Given the description of an element on the screen output the (x, y) to click on. 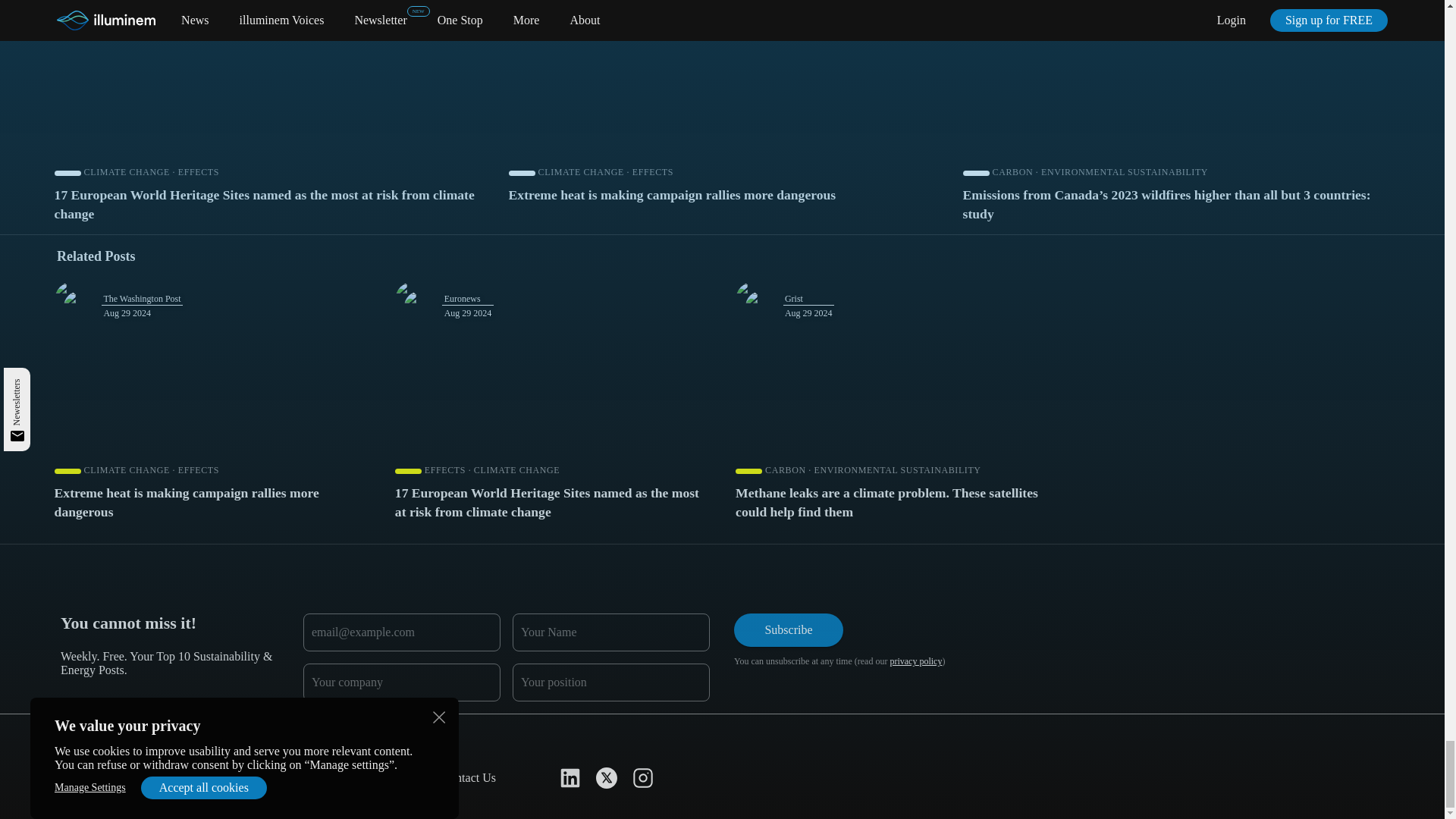
Subscribe (788, 630)
About Us (84, 777)
privacy policy (915, 661)
